Given the description of an element on the screen output the (x, y) to click on. 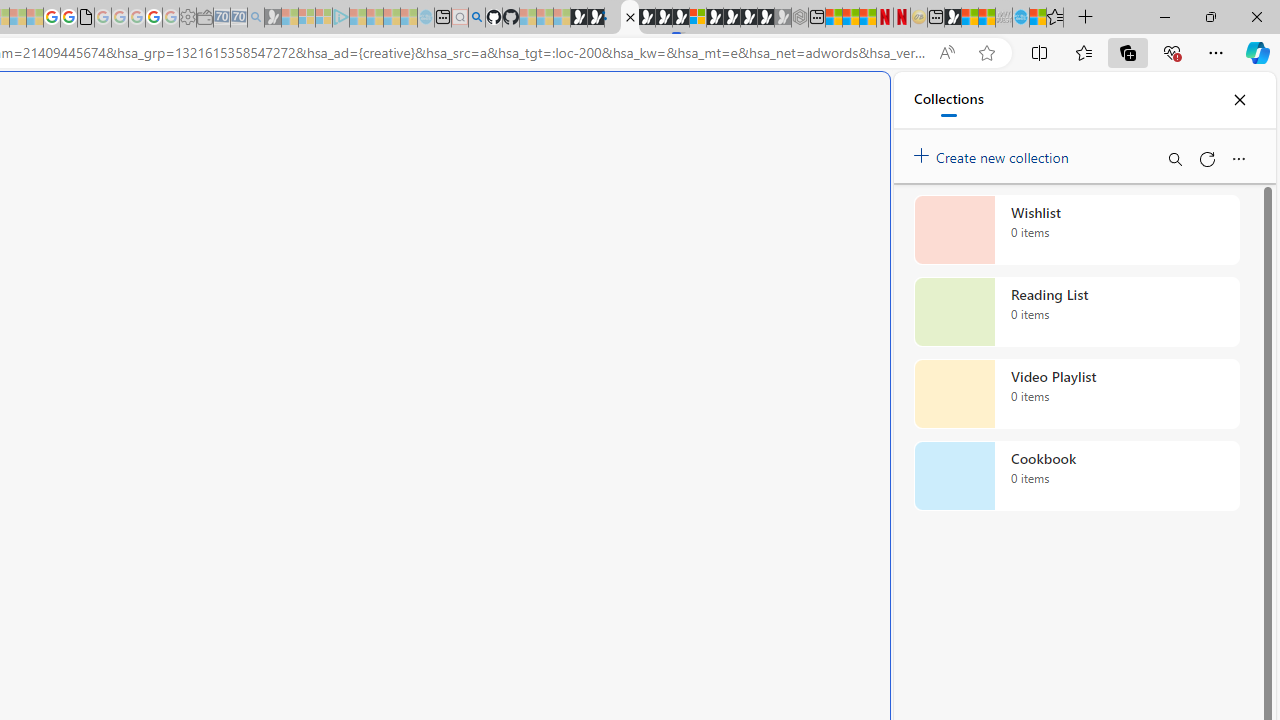
Search or enter web address (343, 191)
